Given the description of an element on the screen output the (x, y) to click on. 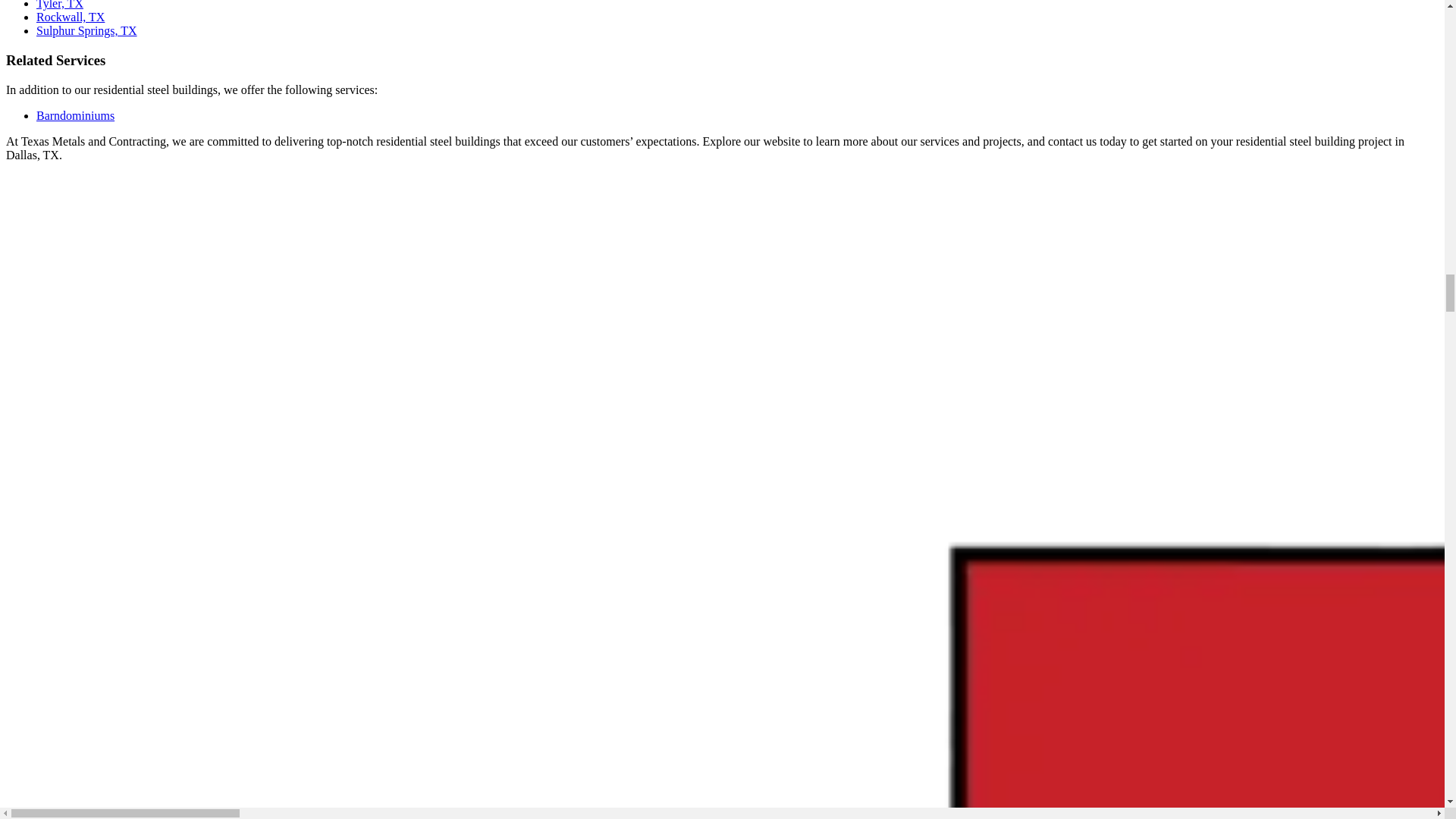
Sulphur Springs, TX (86, 30)
Barndominiums (75, 115)
Rockwall, TX (70, 16)
Tyler, TX (59, 4)
